Given the description of an element on the screen output the (x, y) to click on. 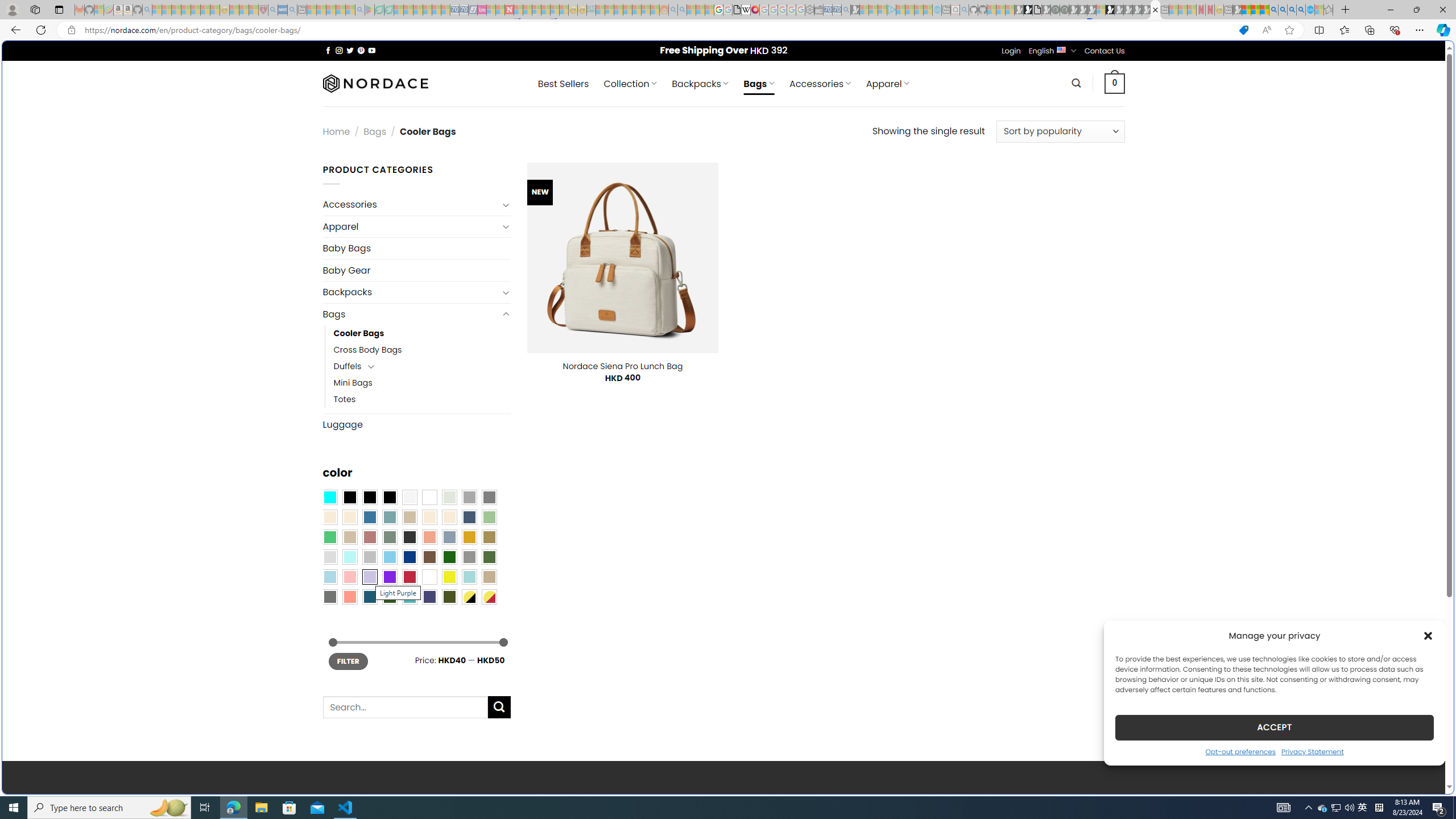
Khaki (488, 577)
Aqua (468, 577)
Blue Sage (389, 517)
Dark Gray (468, 497)
 0  (1115, 83)
Home | Sky Blue Bikes - Sky Blue Bikes (1118, 242)
